Given the description of an element on the screen output the (x, y) to click on. 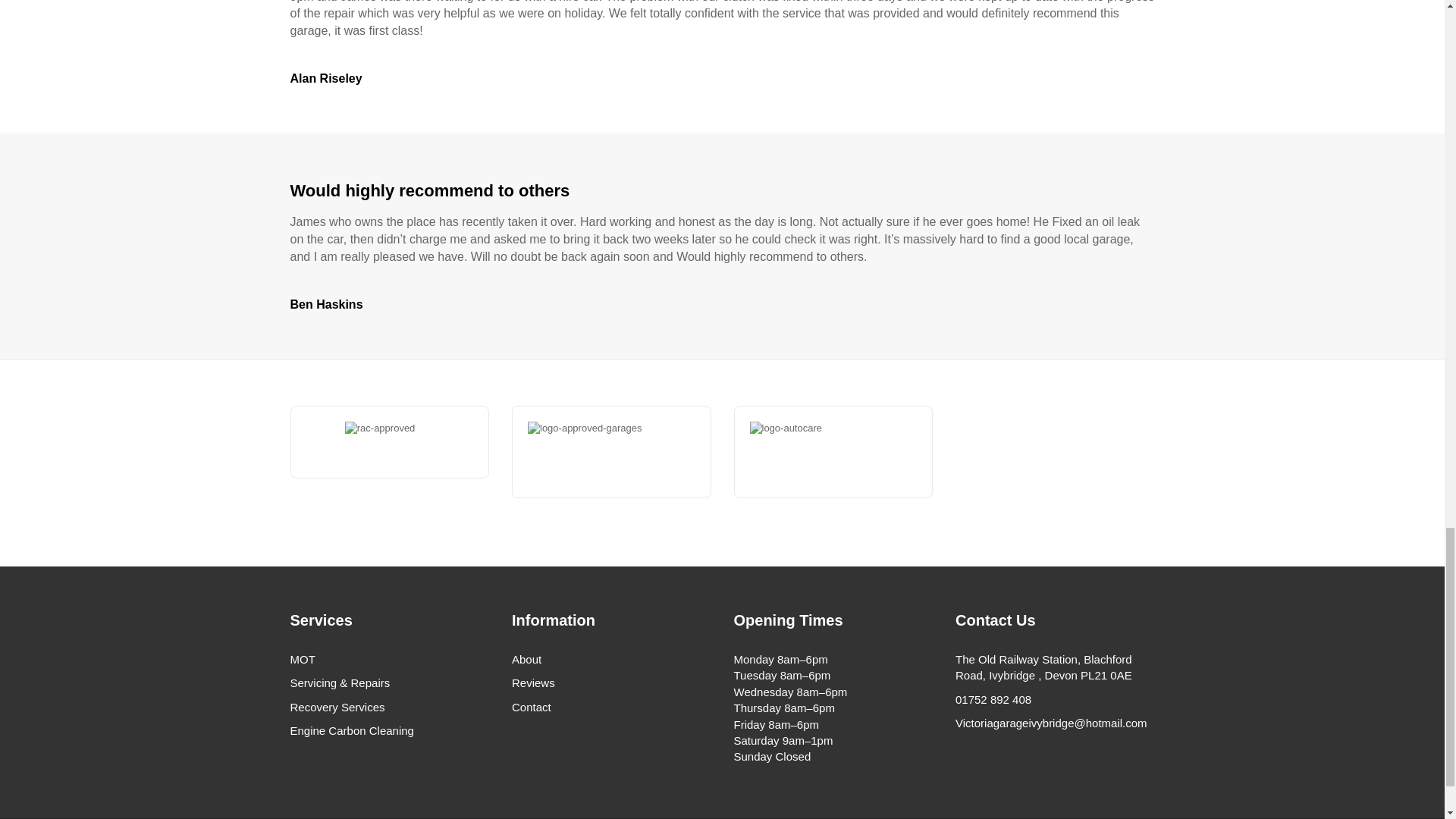
rac-approved (389, 441)
Recovery Services (389, 706)
Engine Carbon Cleaning (389, 730)
logo-approved-garages (632, 451)
Contact (611, 706)
MOT (389, 659)
logo-autocare (854, 451)
About (611, 659)
Reviews (611, 682)
